Given the description of an element on the screen output the (x, y) to click on. 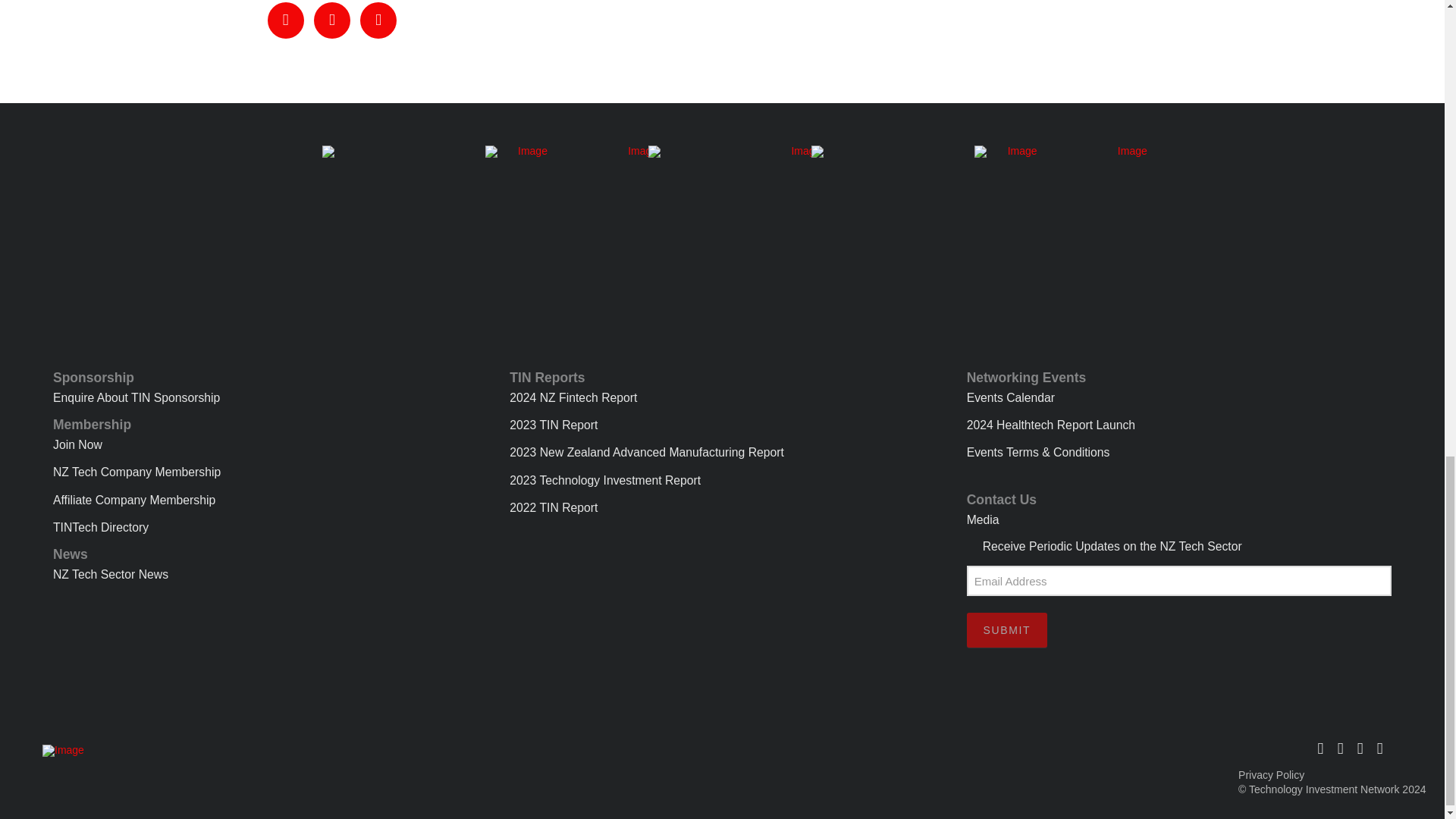
Submit (1006, 629)
Sponsorship (264, 381)
